Given the description of an element on the screen output the (x, y) to click on. 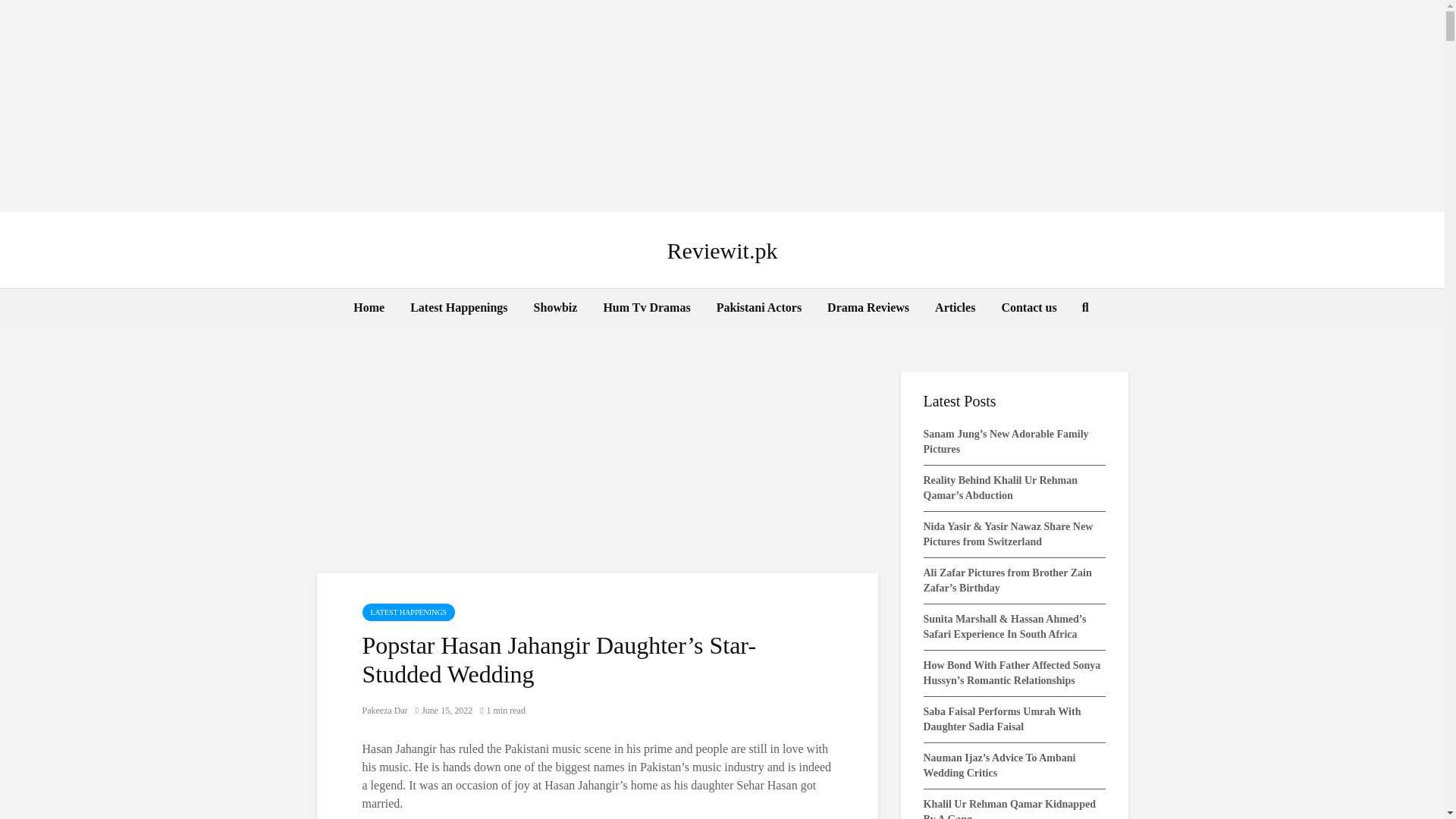
Showbiz (555, 307)
LATEST HAPPENINGS (408, 611)
Home (369, 307)
Drama Reviews (867, 307)
Articles (955, 307)
Hum Tv Dramas (646, 307)
Pakistani Actors (758, 307)
Hum Tv Dramas (646, 307)
Pakeeza Dar (384, 710)
Reviewit.pk (721, 250)
Latest Happenings (458, 307)
Advertisement (597, 460)
Contact us (1028, 307)
